Given the description of an element on the screen output the (x, y) to click on. 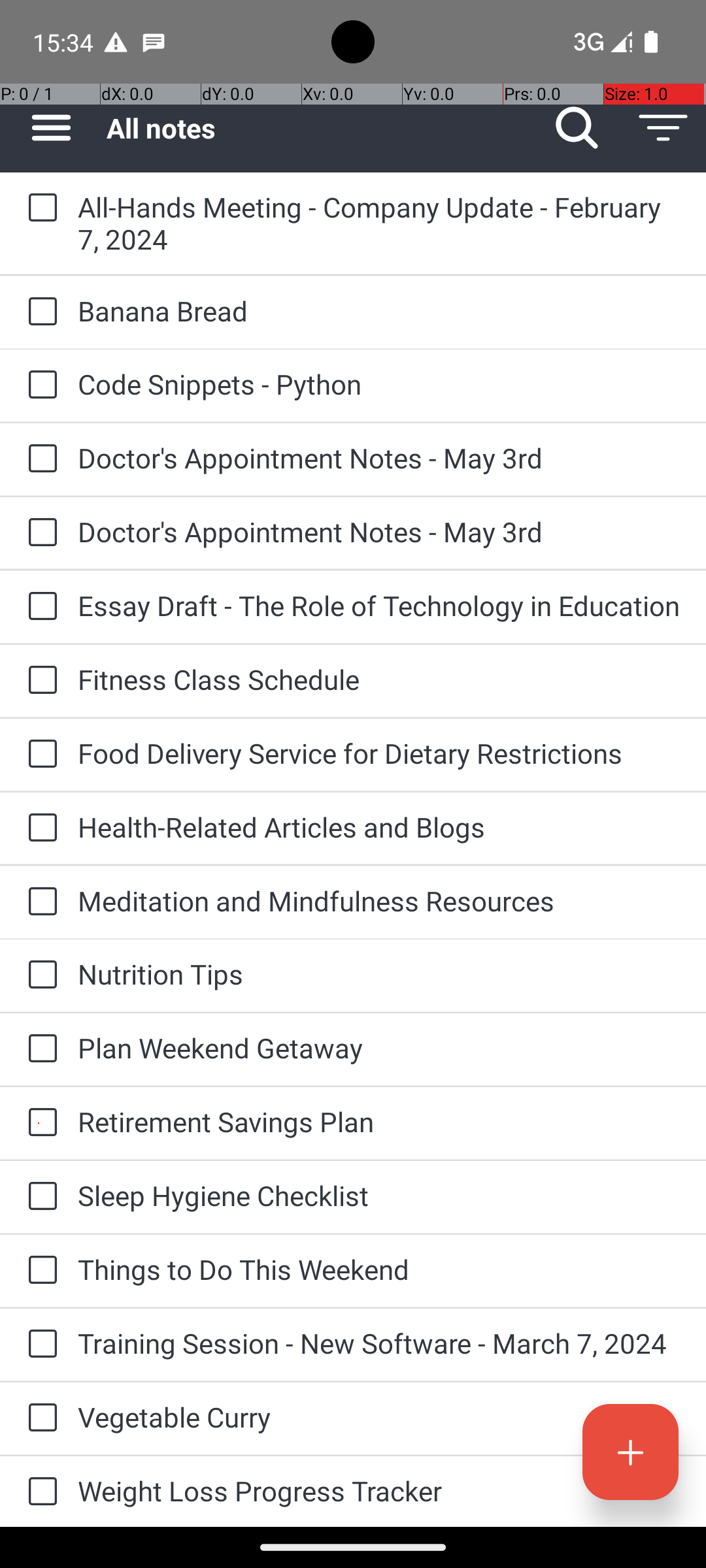
Sidebar Element type: android.widget.Button (44, 127)
All notes Element type: android.widget.TextView (320, 127)
Sort notes by Element type: android.widget.Button (663, 127)
Add new, collapsed Element type: android.widget.Button (630, 1452)
 Element type: android.widget.TextView (51, 127)
 Element type: android.widget.TextView (576, 127)
 Element type: android.widget.TextView (663, 127)
 Element type: android.widget.TextView (630, 1451)
to-do: All-Hands Meeting - Company Update - February 7, 2024 Element type: android.widget.CheckBox (38, 208)
All-Hands Meeting - Company Update - February 7, 2024 Element type: android.widget.TextView (378, 222)
to-do: Banana Bread Element type: android.widget.CheckBox (38, 312)
Banana Bread Element type: android.widget.TextView (378, 310)
to-do: Code Snippets - Python Element type: android.widget.CheckBox (38, 385)
Code Snippets - Python Element type: android.widget.TextView (378, 383)
to-do: Doctor's Appointment Notes - May 3rd Element type: android.widget.CheckBox (38, 459)
Doctor's Appointment Notes - May 3rd Element type: android.widget.TextView (378, 457)
to-do: Essay Draft - The Role of Technology in Education Element type: android.widget.CheckBox (38, 607)
Essay Draft - The Role of Technology in Education Element type: android.widget.TextView (378, 604)
to-do: Fitness Class Schedule Element type: android.widget.CheckBox (38, 680)
Fitness Class Schedule Element type: android.widget.TextView (378, 678)
to-do: Food Delivery Service for Dietary Restrictions Element type: android.widget.CheckBox (38, 754)
Food Delivery Service for Dietary Restrictions Element type: android.widget.TextView (378, 752)
to-do: Health-Related Articles and Blogs Element type: android.widget.CheckBox (38, 828)
Health-Related Articles and Blogs Element type: android.widget.TextView (378, 826)
to-do: Meditation and Mindfulness Resources Element type: android.widget.CheckBox (38, 902)
Meditation and Mindfulness Resources Element type: android.widget.TextView (378, 900)
to-do: Nutrition Tips Element type: android.widget.CheckBox (38, 975)
Nutrition Tips Element type: android.widget.TextView (378, 973)
to-do: Plan Weekend Getaway Element type: android.widget.CheckBox (38, 1049)
Plan Weekend Getaway Element type: android.widget.TextView (378, 1047)
to-do: Retirement Savings Plan Element type: android.widget.CheckBox (38, 1123)
Retirement Savings Plan Element type: android.widget.TextView (378, 1121)
to-do: Sleep Hygiene Checklist Element type: android.widget.CheckBox (38, 1196)
Sleep Hygiene Checklist Element type: android.widget.TextView (378, 1194)
to-do: Things to Do This Weekend Element type: android.widget.CheckBox (38, 1270)
Things to Do This Weekend Element type: android.widget.TextView (378, 1268)
to-do: Training Session - New Software - March 7, 2024 Element type: android.widget.CheckBox (38, 1344)
Training Session - New Software - March 7, 2024 Element type: android.widget.TextView (378, 1342)
to-do: Vegetable Curry Element type: android.widget.CheckBox (38, 1418)
Vegetable Curry Element type: android.widget.TextView (378, 1416)
to-do: Weight Loss Progress Tracker Element type: android.widget.CheckBox (38, 1491)
Weight Loss Progress Tracker Element type: android.widget.TextView (378, 1490)
